Given the description of an element on the screen output the (x, y) to click on. 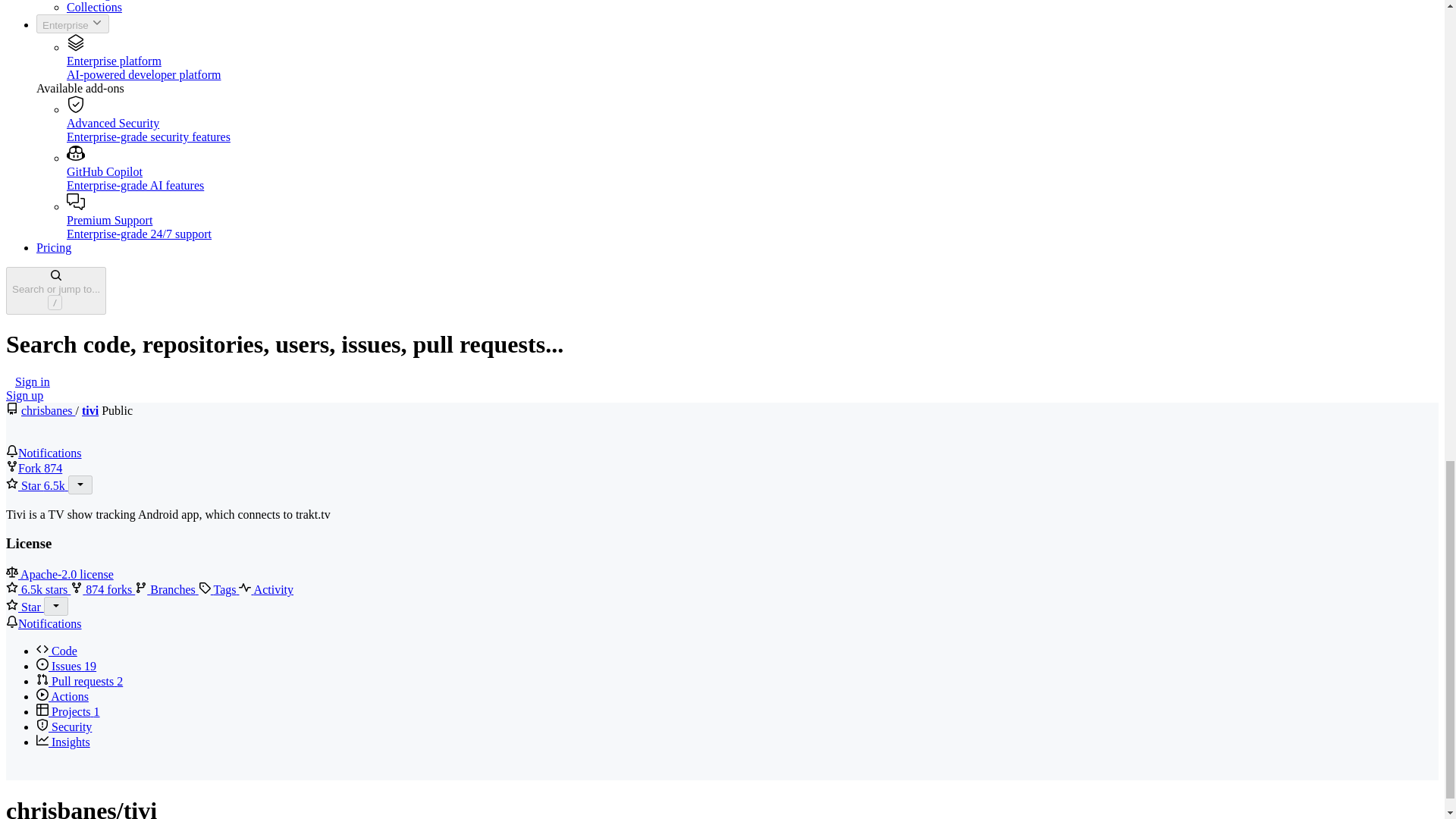
6,490 (54, 485)
2 (119, 680)
874 (52, 468)
1 (97, 711)
19 (90, 666)
